Given the description of an element on the screen output the (x, y) to click on. 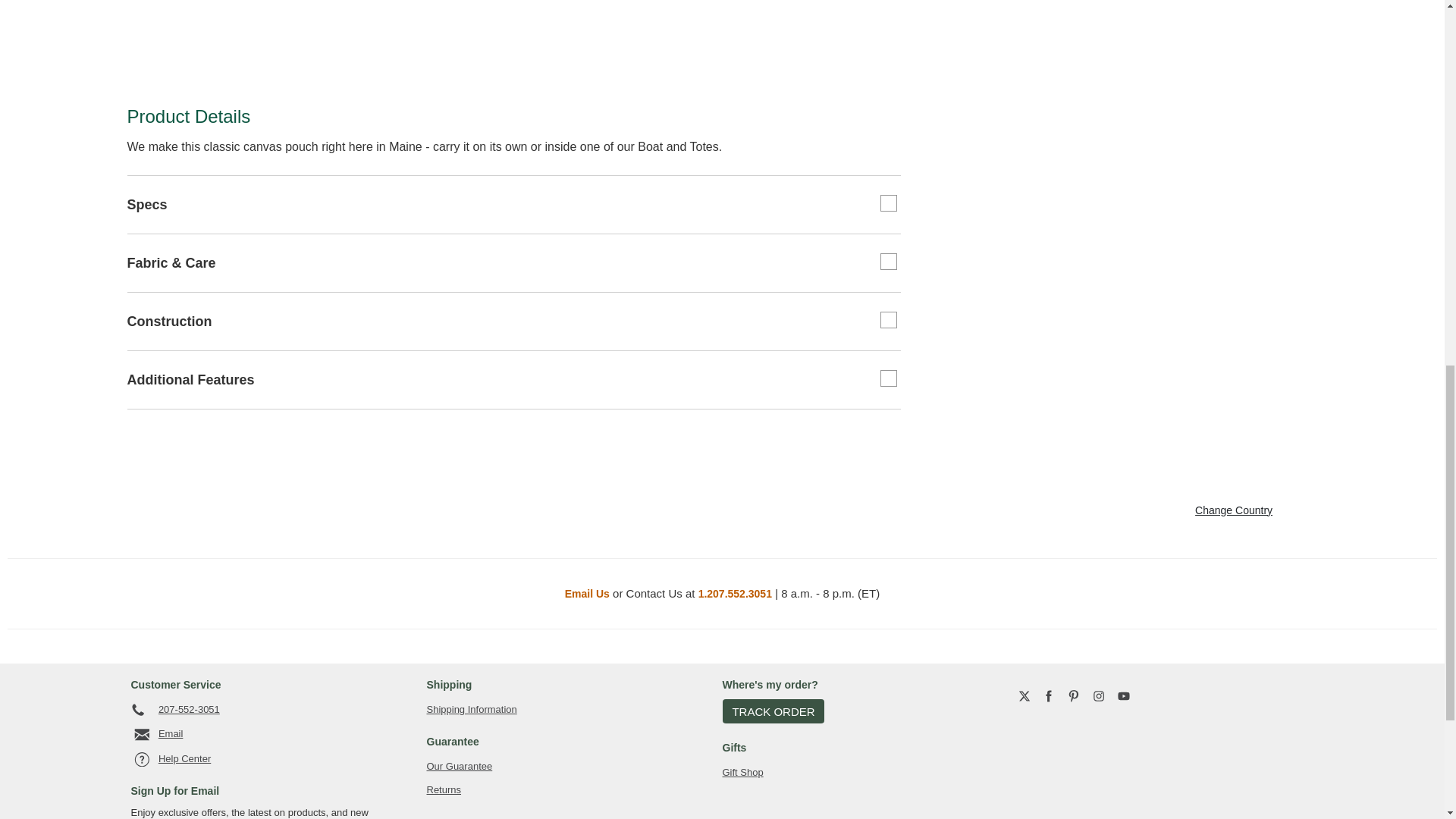
L.L.Bean on X (1023, 695)
Track Order (773, 711)
L.L.Bean on Pinterest (1073, 695)
L.L.Bean on YouTube (1123, 695)
L.L.Bean on Facebook (1048, 695)
L.L.Bean on Instagram (1099, 695)
